Given the description of an element on the screen output the (x, y) to click on. 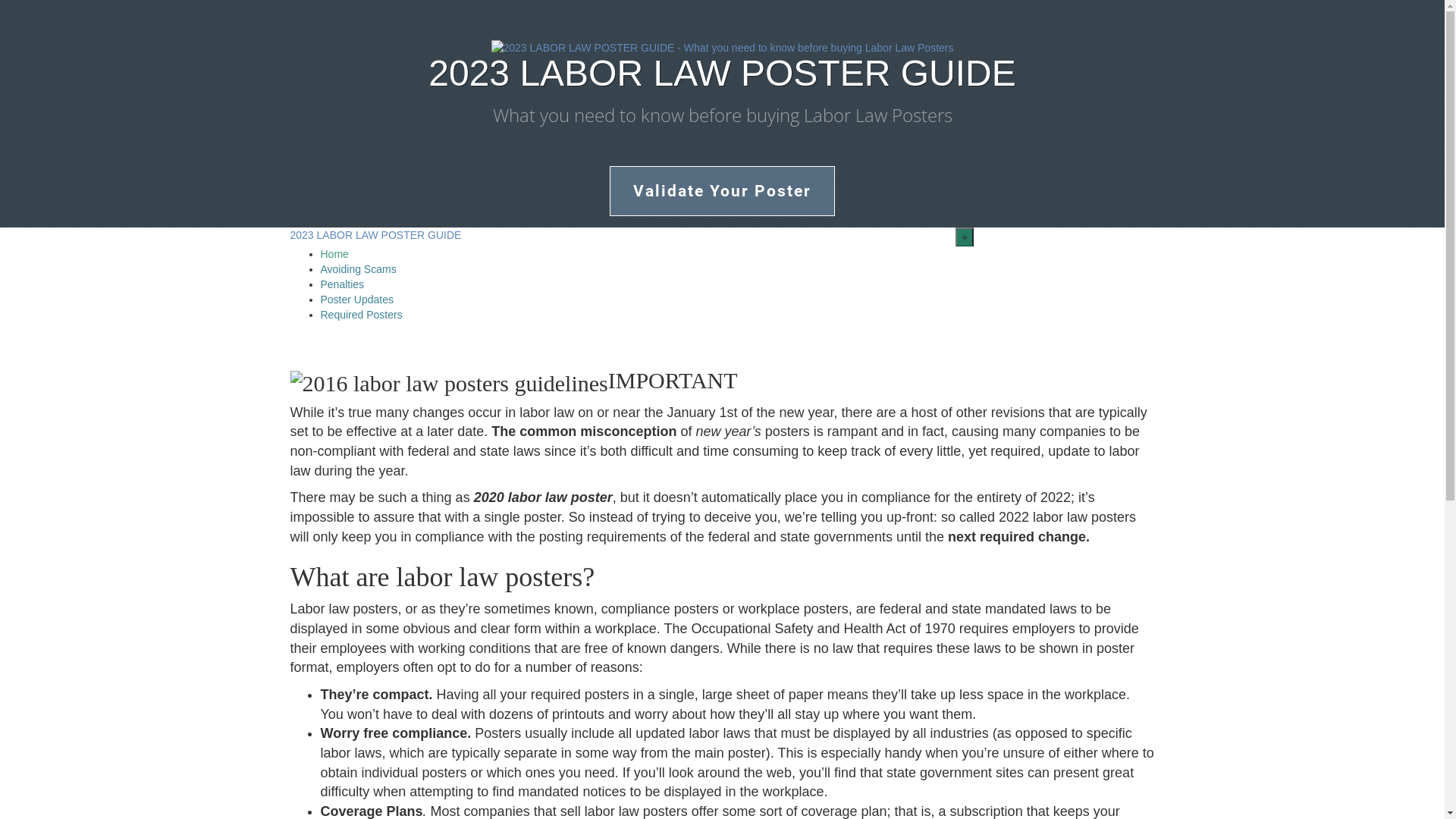
Penalties Element type: text (342, 284)
2023 LABOR LAW POSTER GUIDE Element type: text (721, 73)
Avoiding Scams Element type: text (357, 269)
Poster Updates Element type: text (356, 299)
What you need to know before buying Labor Law Posters Element type: text (721, 115)
Home Element type: text (334, 253)
Validate Your Poster Element type: text (721, 190)
2023 LABOR LAW POSTER GUIDE Element type: text (375, 235)
+ Element type: text (964, 236)
Required Posters Element type: text (360, 314)
